Given the description of an element on the screen output the (x, y) to click on. 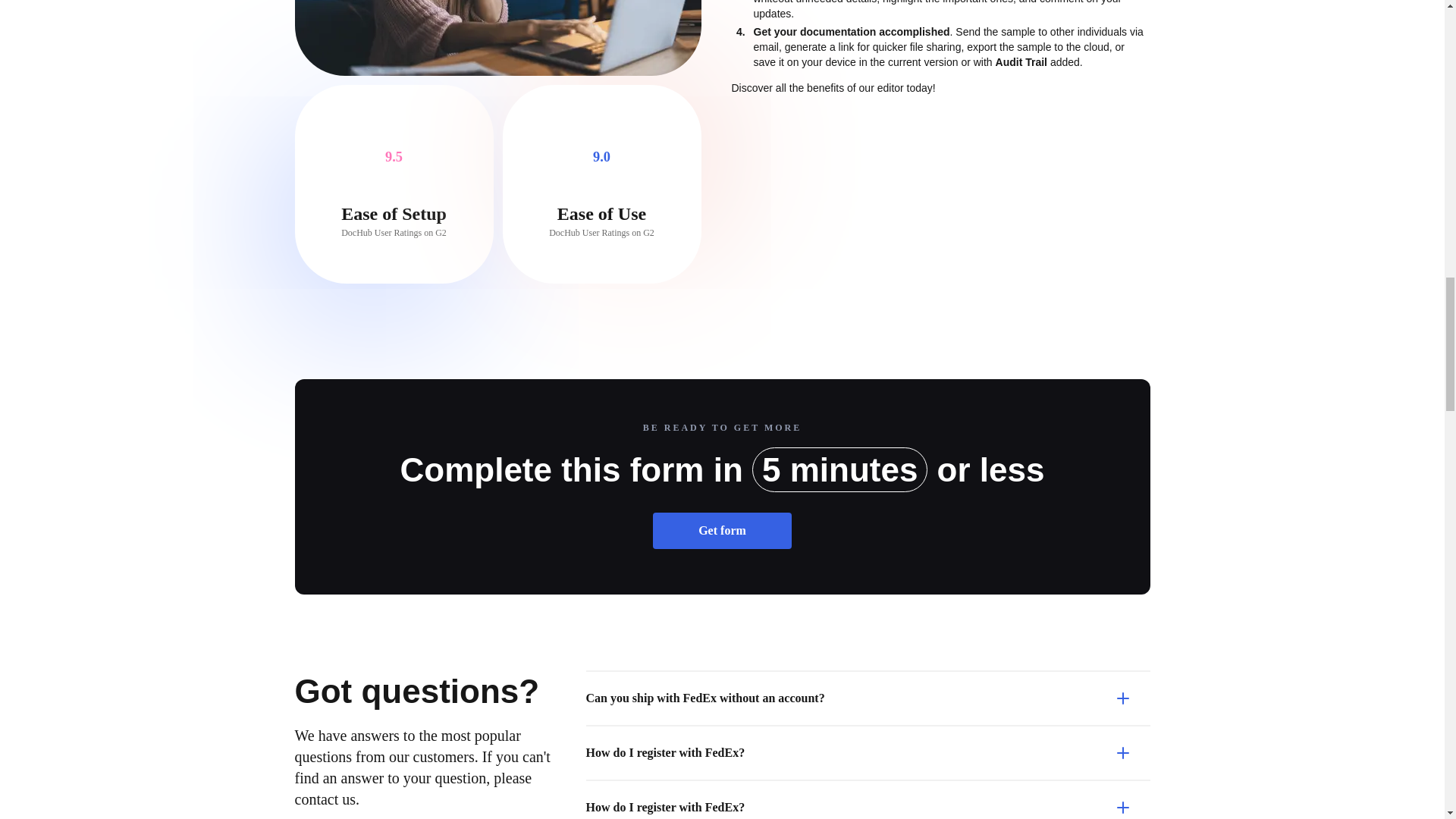
9.0 (601, 157)
Get form (722, 530)
9.5 (394, 157)
